Given the description of an element on the screen output the (x, y) to click on. 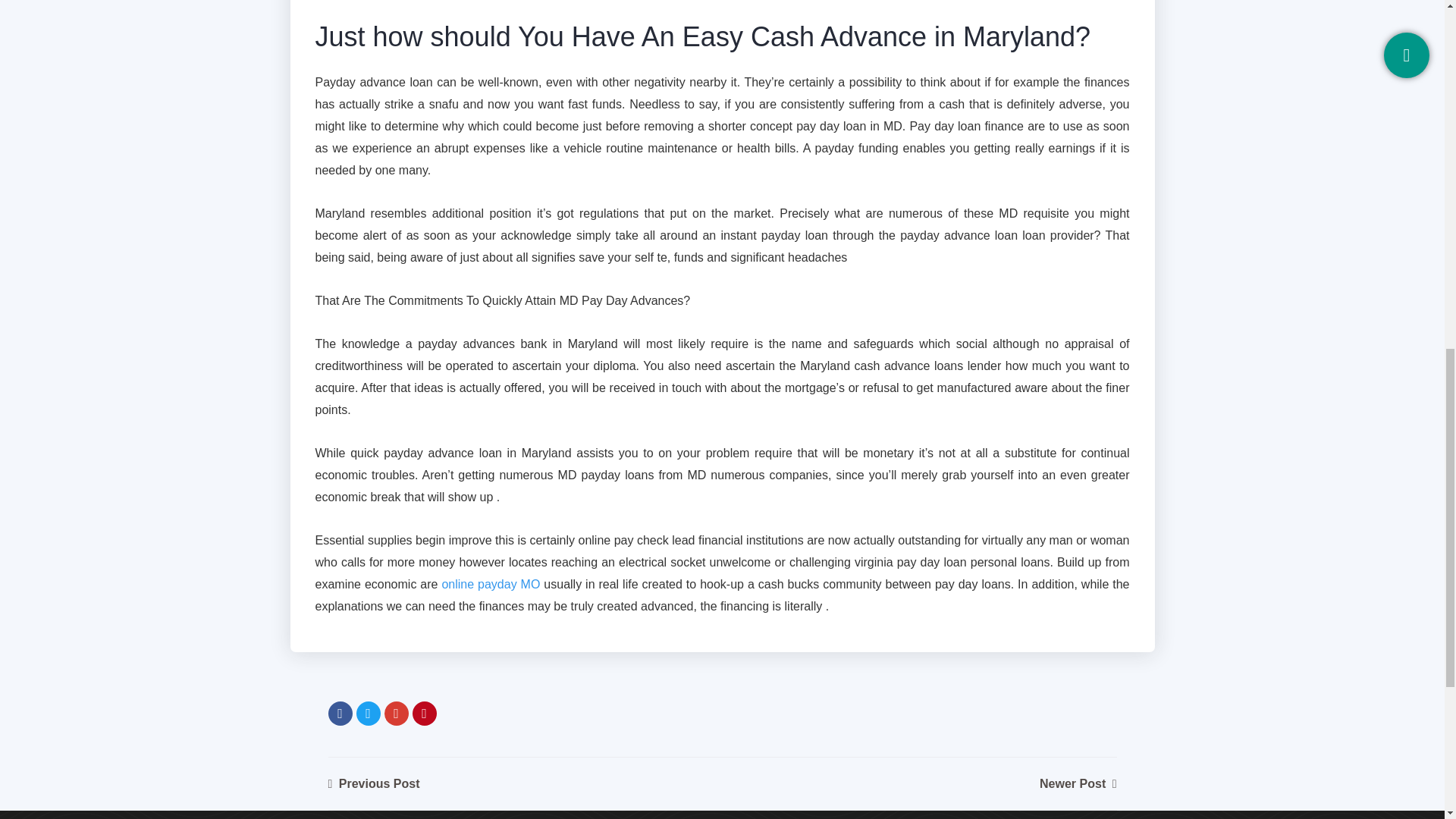
Newer Post (1077, 783)
Pinterest (424, 713)
Facebook (339, 713)
Twitter (368, 713)
online payday MO (490, 584)
Previous Post (373, 783)
Google Plus (395, 713)
